Given the description of an element on the screen output the (x, y) to click on. 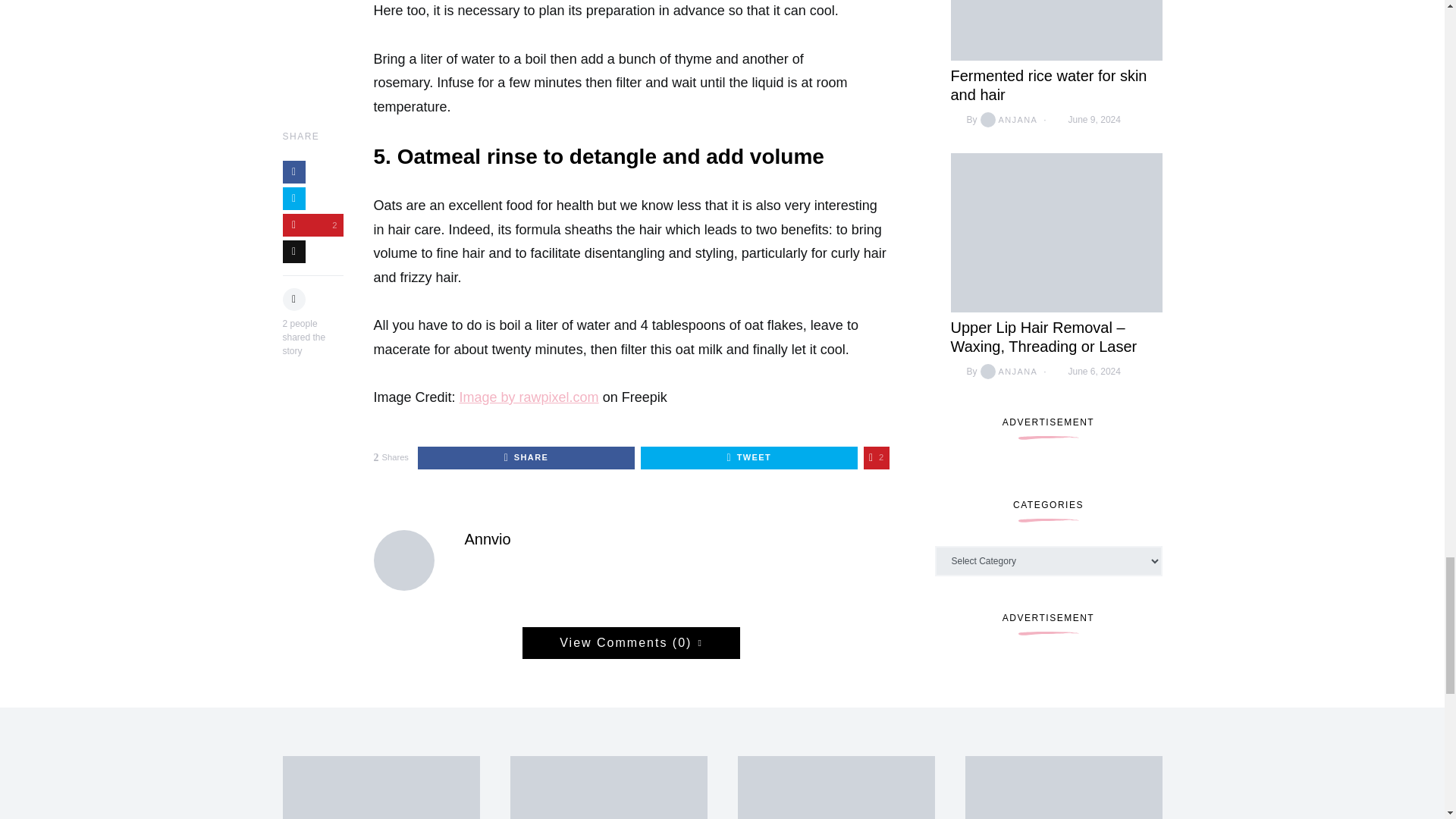
Image by rawpixel.com (529, 396)
2 (876, 456)
TWEET (748, 456)
SHARE (525, 456)
